Given the description of an element on the screen output the (x, y) to click on. 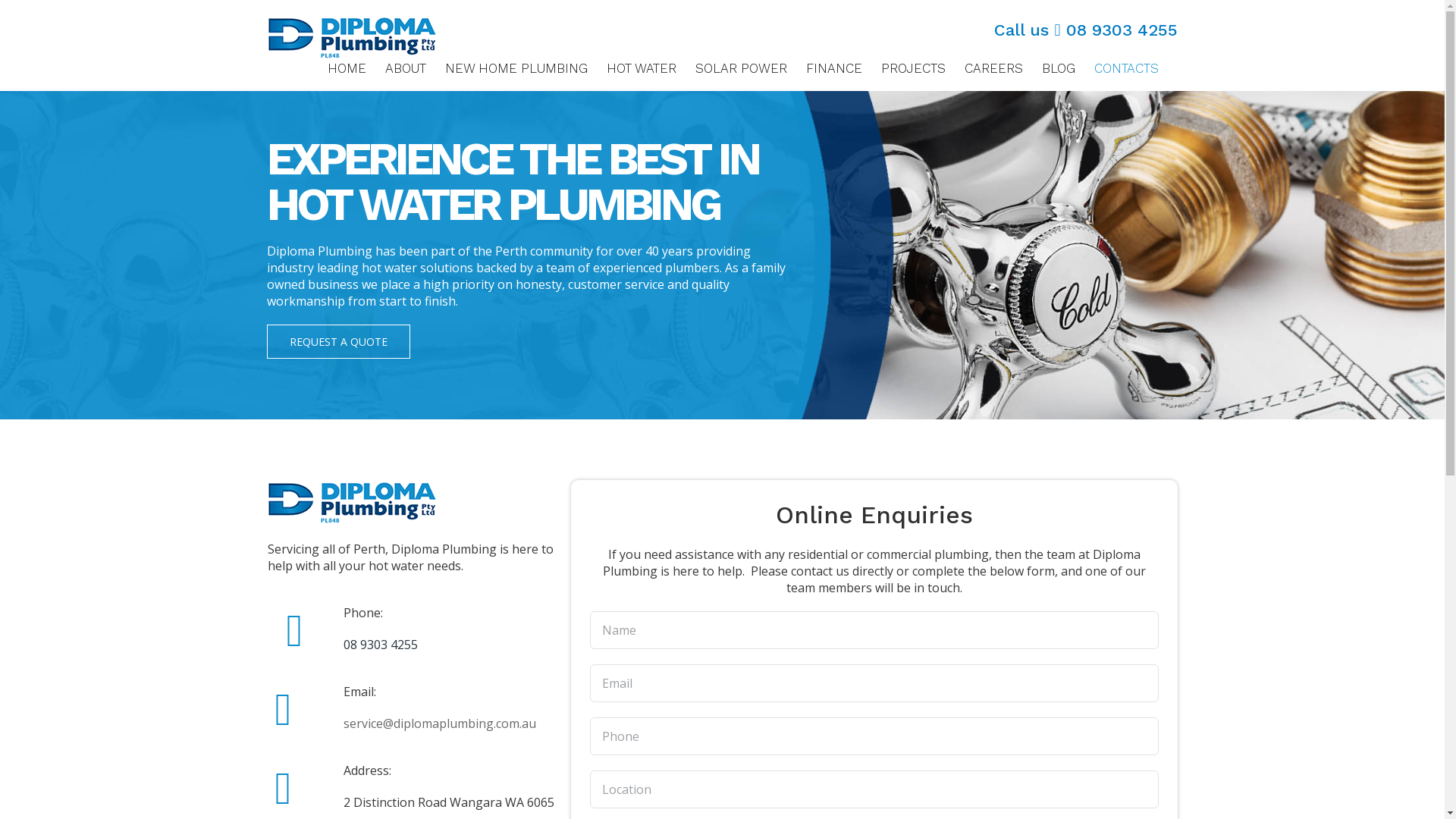
HOT WATER Element type: text (641, 68)
REQUEST A QUOTE Element type: text (338, 341)
CONTACTS Element type: text (1125, 68)
SOLAR POWER Element type: text (740, 68)
CAREERS Element type: text (993, 68)
PROJECTS Element type: text (913, 68)
FINANCE Element type: text (833, 68)
ABOUT Element type: text (405, 68)
08 9303 4255 Element type: text (379, 644)
diploma-plumbing Element type: hover (351, 502)
service@diplomaplumbing.com.au Element type: text (438, 723)
BLOG Element type: text (1058, 68)
08 9303 4255 Element type: text (1121, 29)
NEW HOME PLUMBING Element type: text (515, 68)
HOME Element type: text (346, 68)
